Given the description of an element on the screen output the (x, y) to click on. 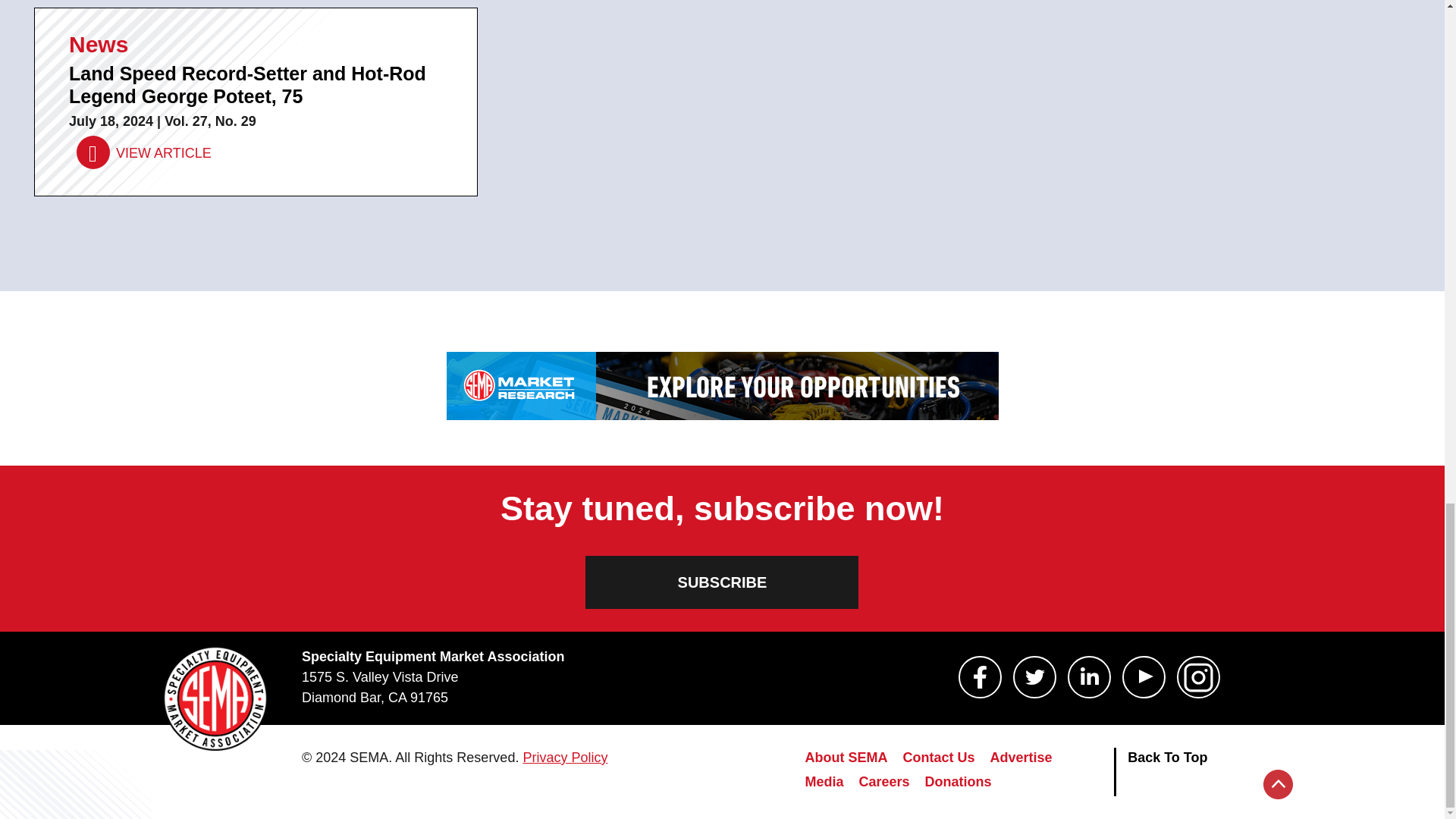
Privacy Policy (564, 757)
SEMA YouTube Link (1144, 677)
SEMA Twitter Link (1035, 677)
SEMA MR Market Reports 2024 (721, 386)
SEMA LinkedIn Link (1088, 677)
SEMA Facebook Link (979, 677)
SEMA Instagram Link (1198, 677)
VIEW ARTICLE (143, 153)
